Given the description of an element on the screen output the (x, y) to click on. 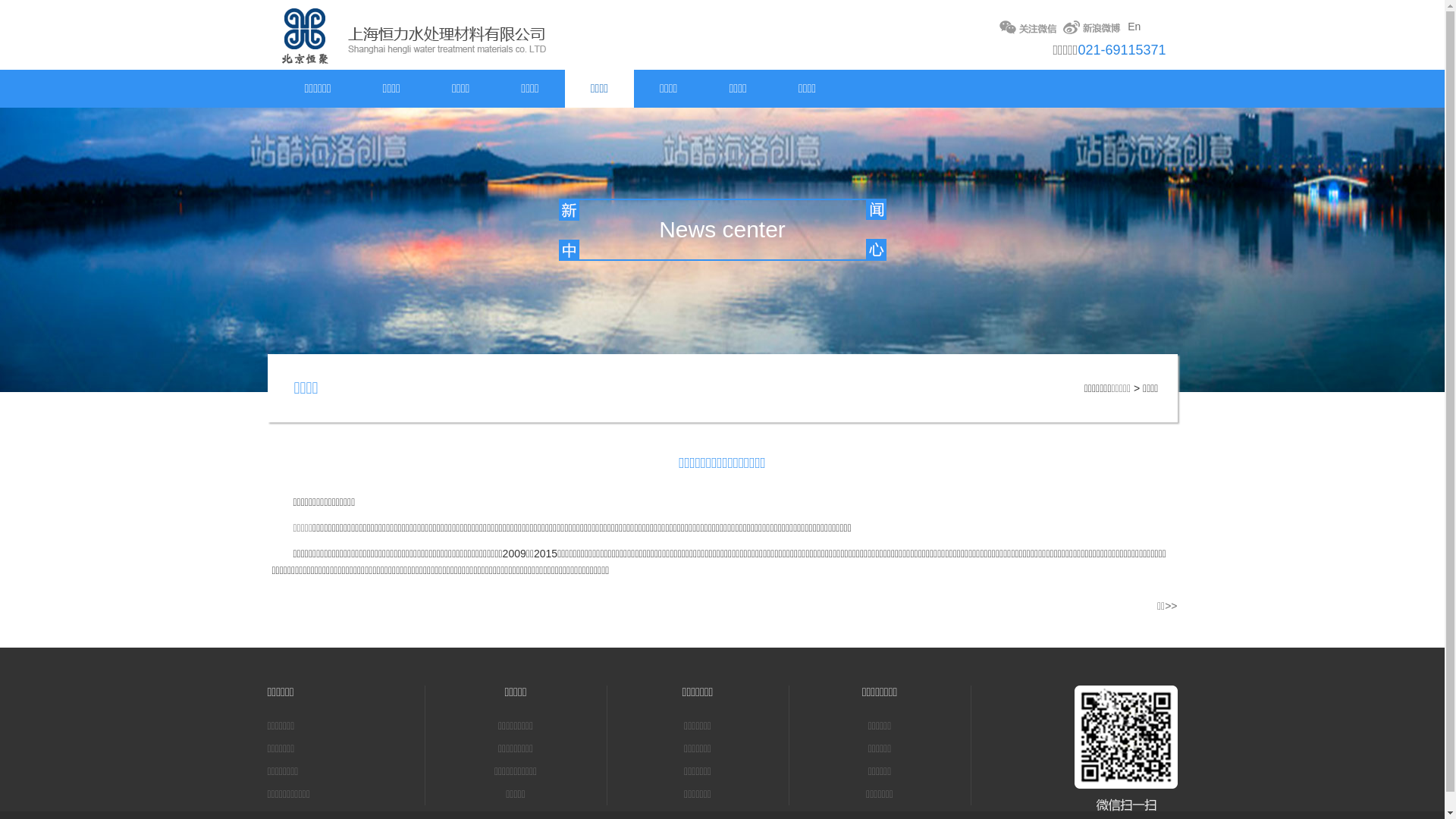
En Element type: text (1135, 26)
